Given the description of an element on the screen output the (x, y) to click on. 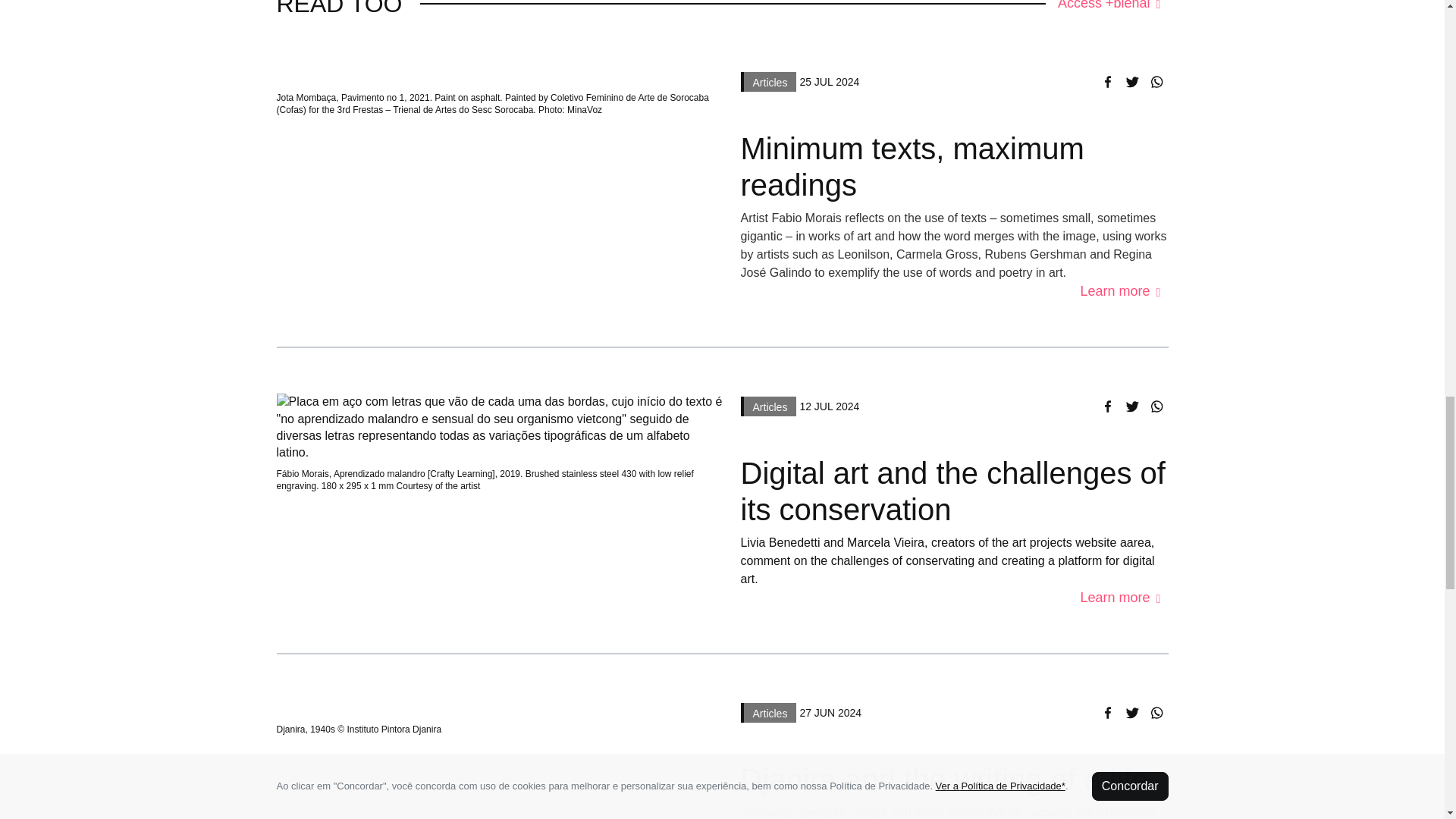
Twitter (1131, 405)
Facebook (1107, 405)
Whatsapp (1155, 405)
Whatsapp (1155, 712)
Twitter (1131, 712)
Facebook (1107, 712)
Whatsapp (1155, 81)
Facebook (1107, 81)
Articles (767, 80)
Twitter (1131, 81)
